Given the description of an element on the screen output the (x, y) to click on. 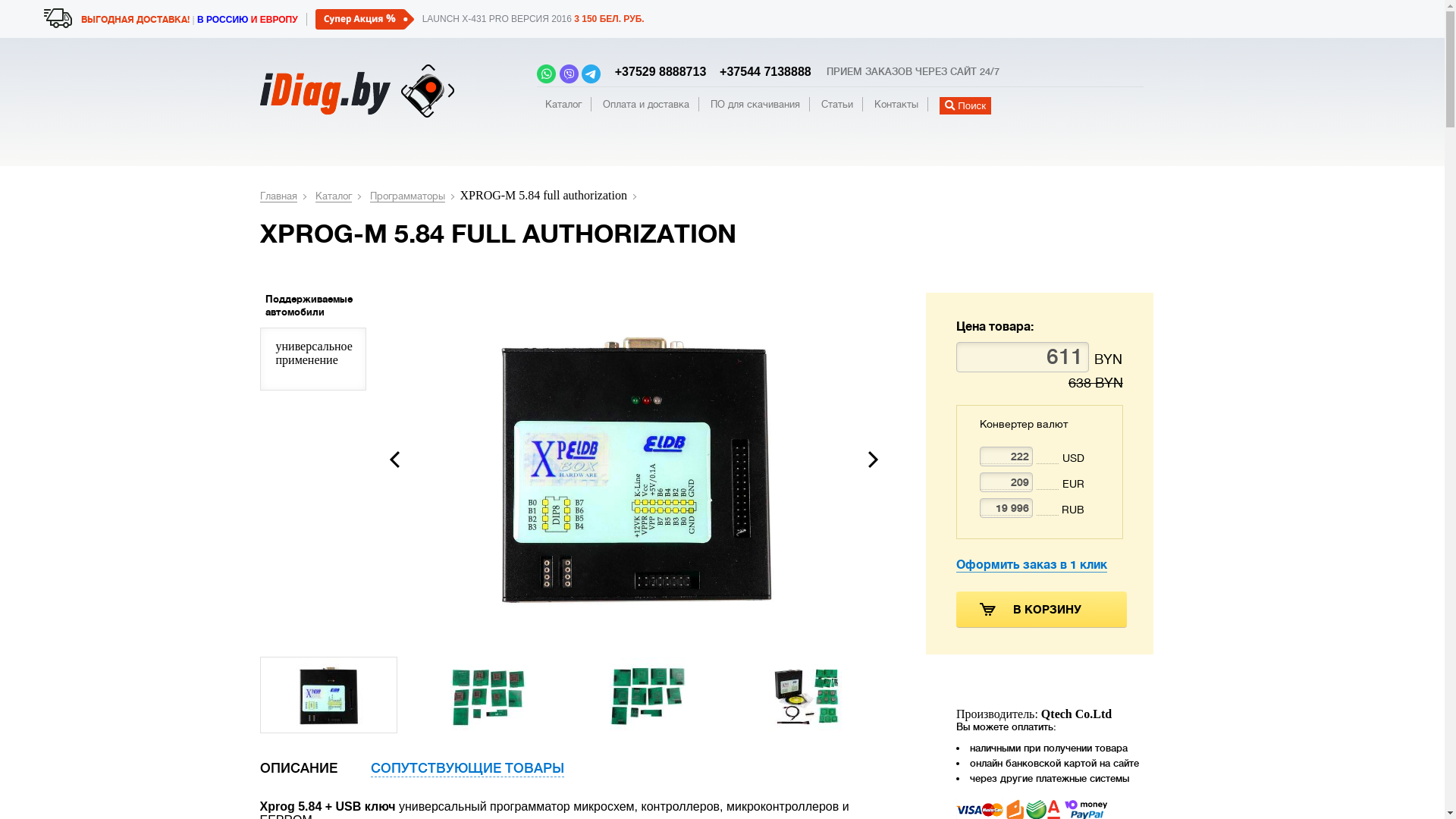
Viber Element type: hover (568, 75)
Telegram Element type: hover (590, 75)
  +37529 8888713 Element type: text (657, 71)
whatsapp Element type: hover (545, 75)
   +37544 7138888 Element type: text (760, 71)
